Given the description of an element on the screen output the (x, y) to click on. 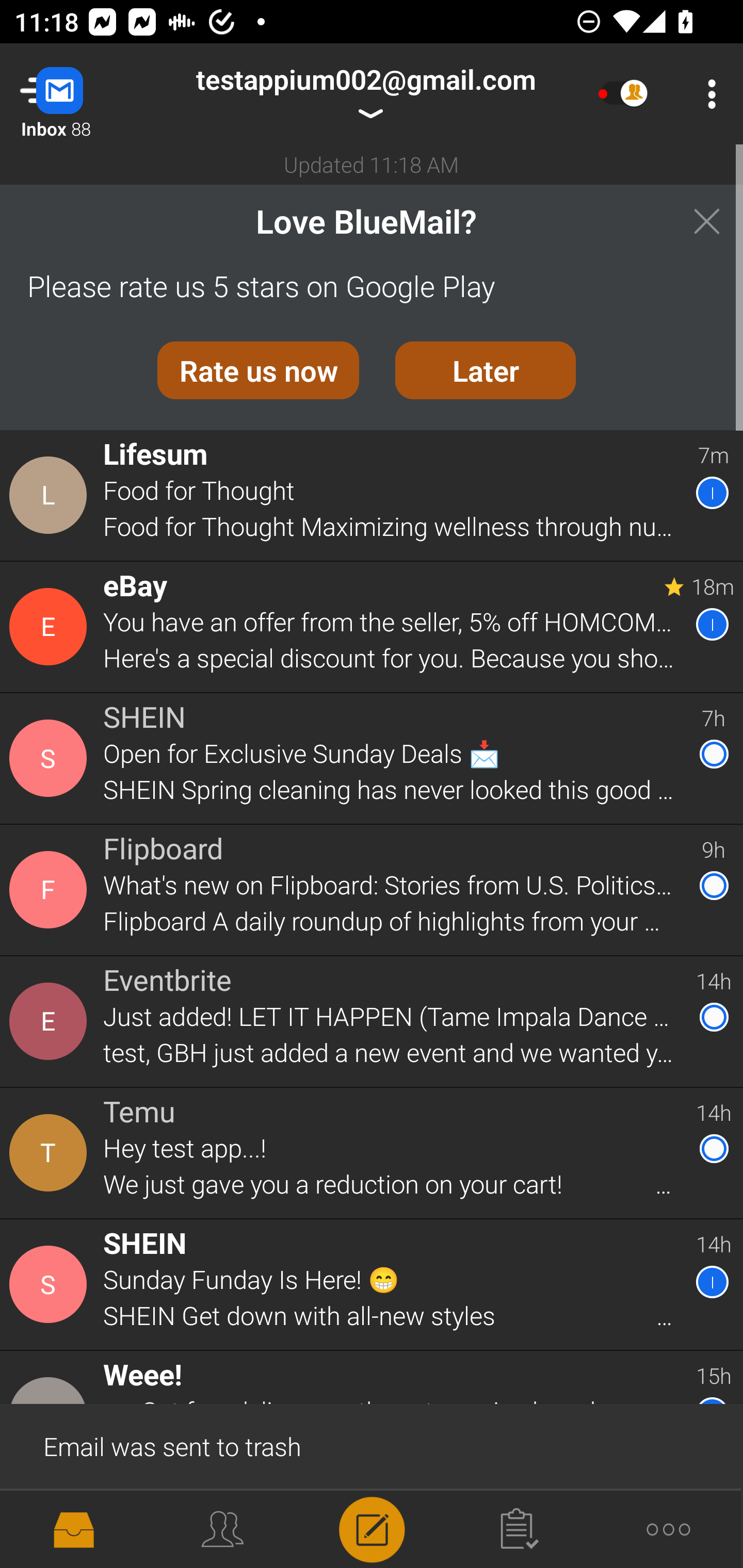
Navigate up (81, 93)
testappium002@gmail.com (365, 93)
More Options (706, 93)
Updated 11:18 AM (371, 164)
Rate us now (257, 370)
Later (485, 370)
Contact Details (50, 495)
Contact Details (50, 626)
Contact Details (50, 758)
Contact Details (50, 889)
Contact Details (50, 1021)
Contact Details (50, 1153)
Contact Details (50, 1284)
Email was sent to trash (371, 1445)
Compose (371, 1528)
